Given the description of an element on the screen output the (x, y) to click on. 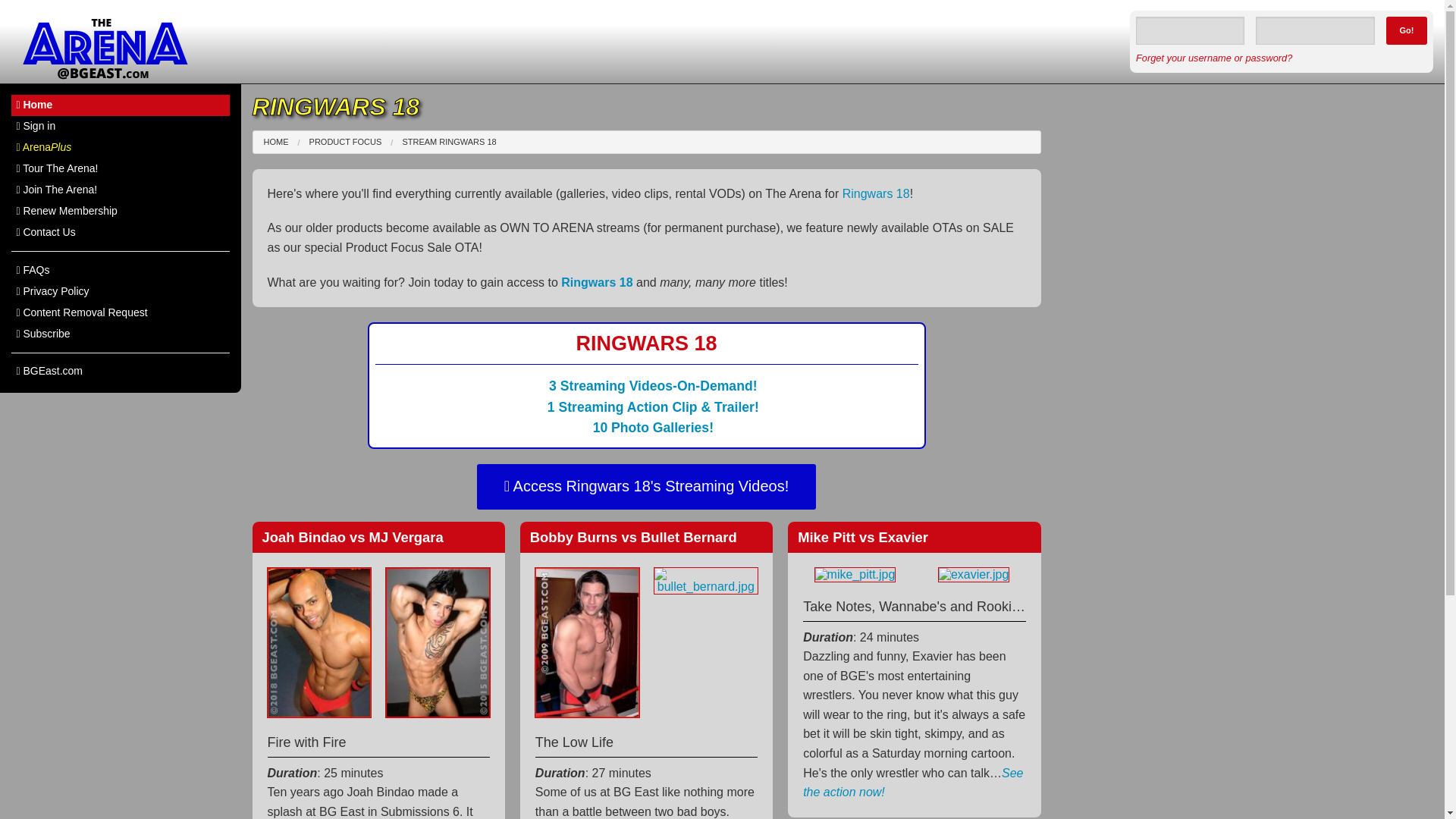
Mike Pitt vs Exavier (913, 537)
Take Notes, Wannabe's and Rookieboys, Take Notes! (914, 605)
3 Streaming Videos-On-Demand! (652, 385)
MJ Vergara (437, 641)
Tour The Arena! (120, 168)
Ringwars 18 (876, 193)
Join Today! (652, 385)
Bobby Burns vs Bullet Bernard (645, 537)
Forget your username or password? (1213, 57)
The Low Life (646, 742)
